Given the description of an element on the screen output the (x, y) to click on. 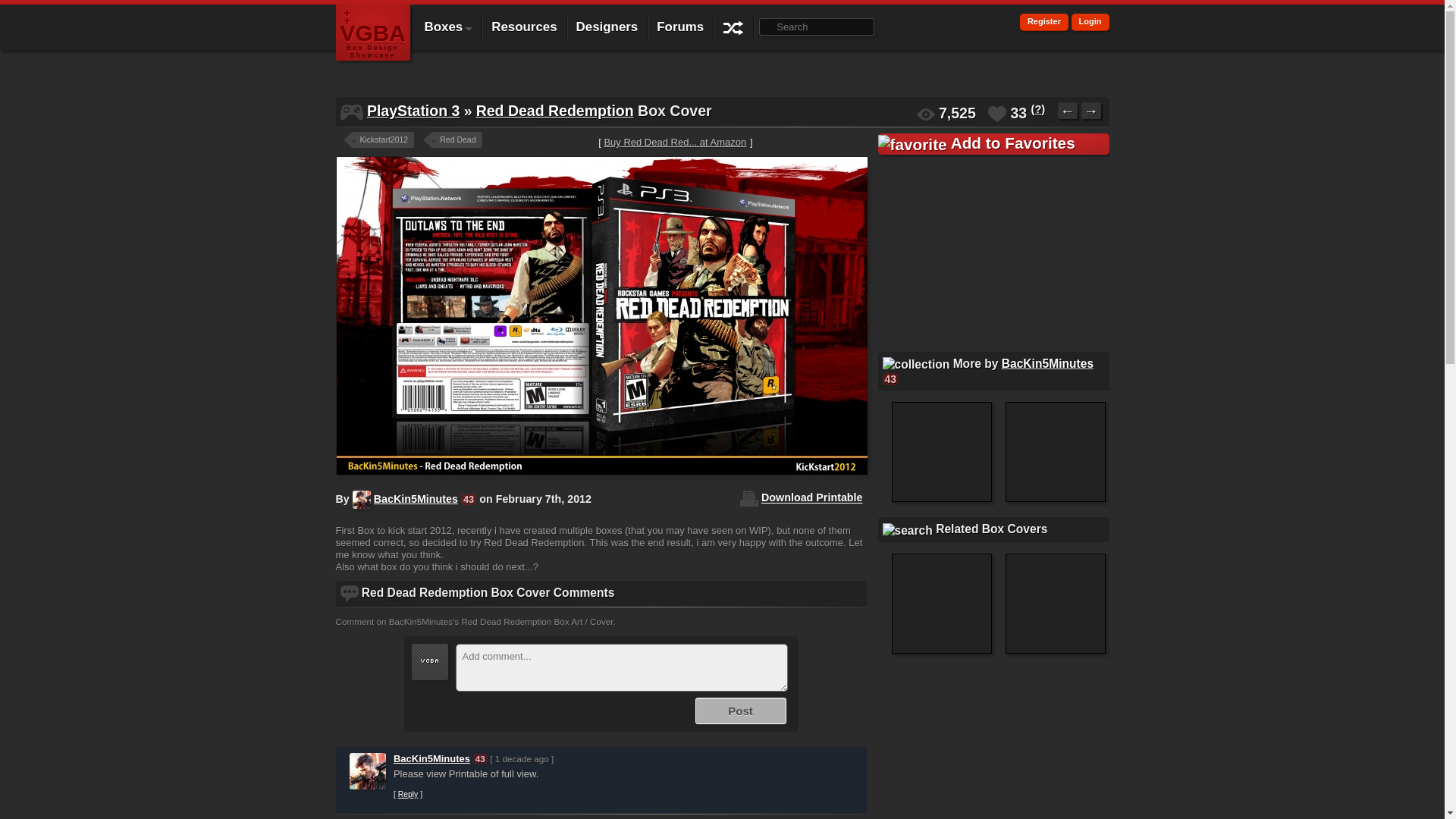
Level (468, 499)
Find other Red Dead Redemption boxes (554, 110)
Previous PlayStation 3 box (1067, 110)
Join VGBoxArt! (1044, 22)
More PS3 boxes (413, 110)
Printable Box (748, 498)
Login (1090, 22)
Download the printable version of this box (811, 498)
Post (740, 710)
Views (925, 114)
